Given the description of an element on the screen output the (x, y) to click on. 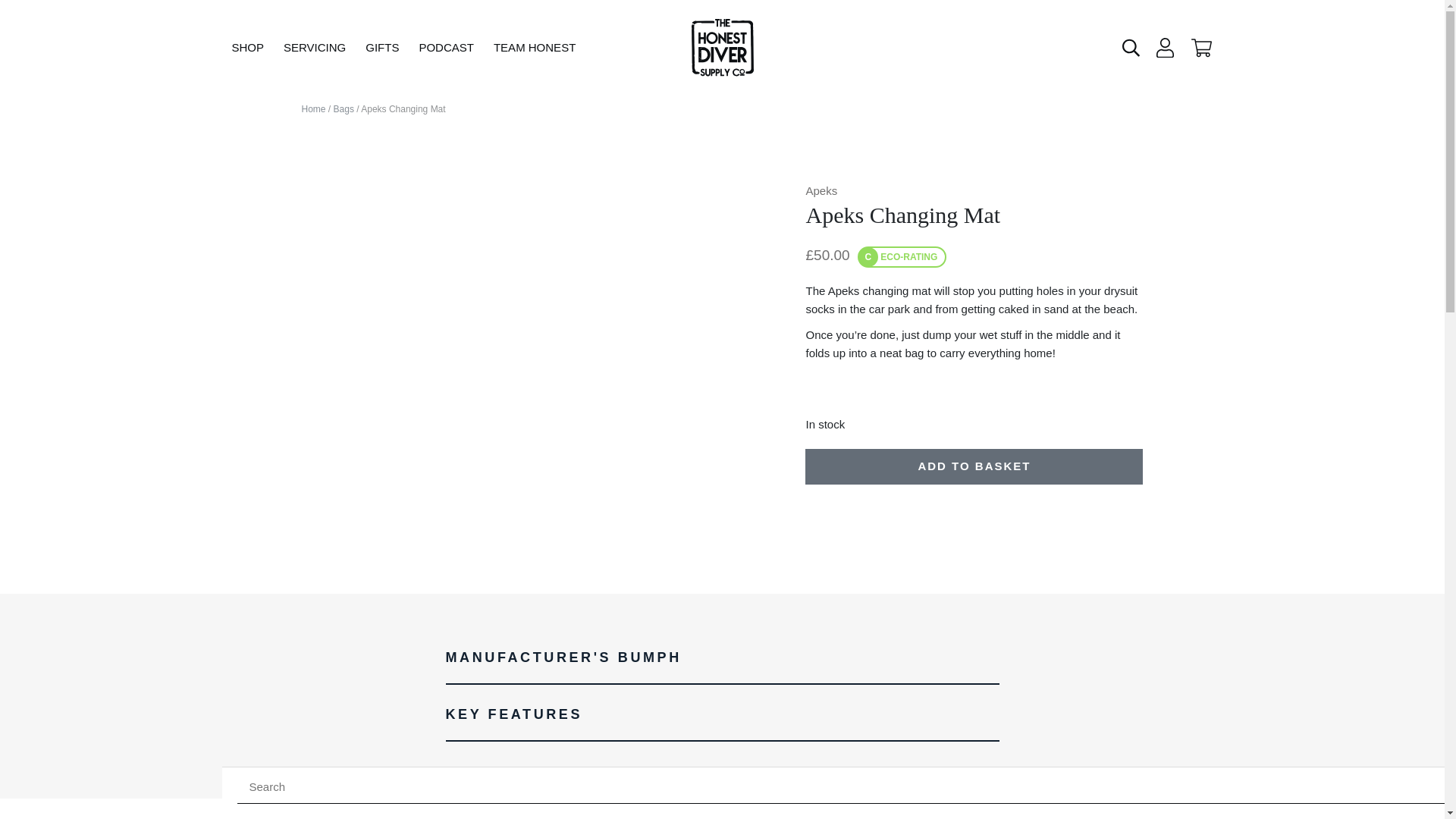
SHOP (247, 47)
PODCAST (446, 47)
GIFTS (382, 47)
SERVICING (314, 47)
